Given the description of an element on the screen output the (x, y) to click on. 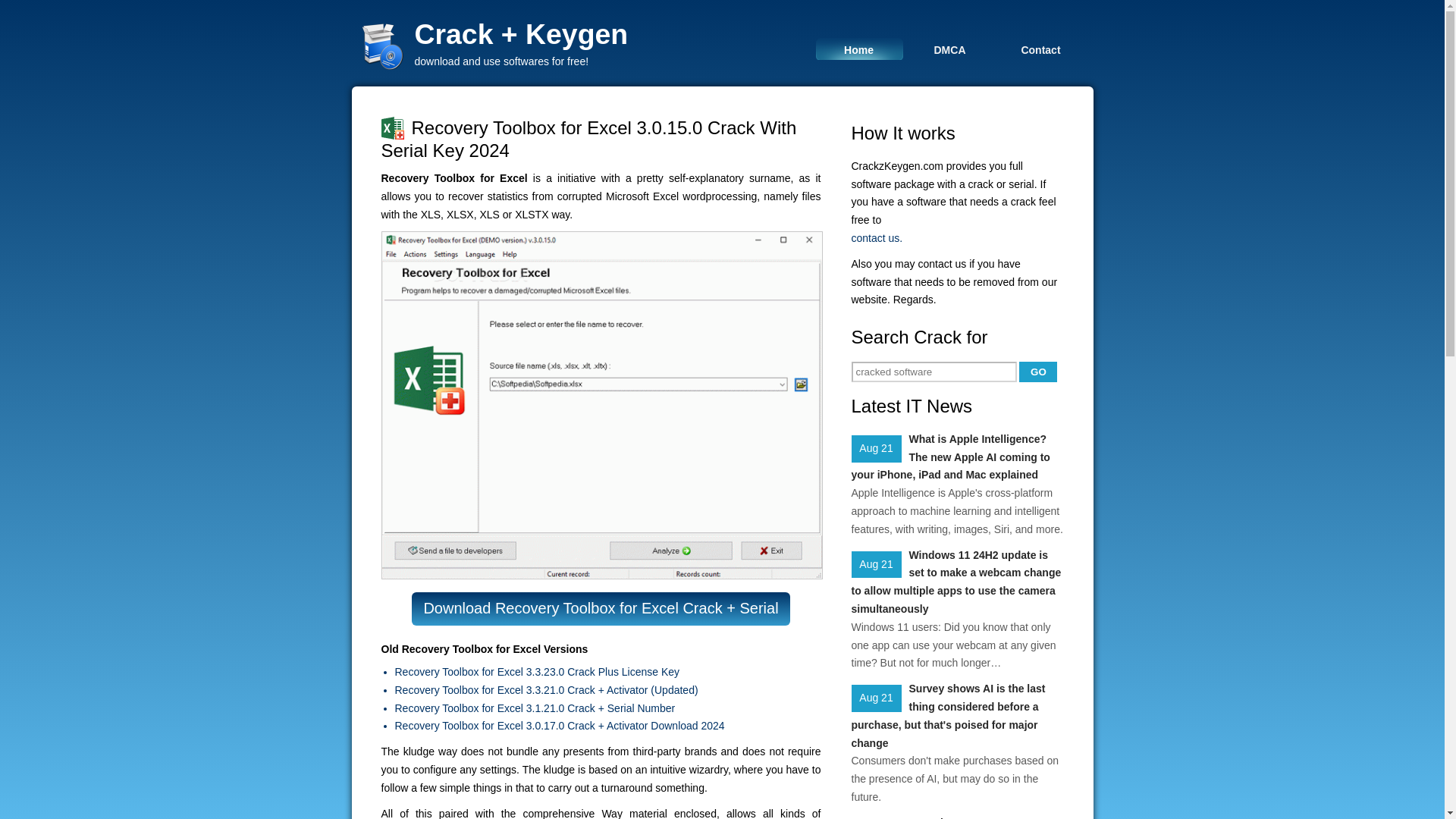
contact us. (956, 239)
GO (1038, 371)
Home (858, 48)
DMCA (949, 48)
Contact (1040, 48)
Recovery Toolbox for Excel 3.3.23.0 Crack Plus License Key (607, 672)
